Given the description of an element on the screen output the (x, y) to click on. 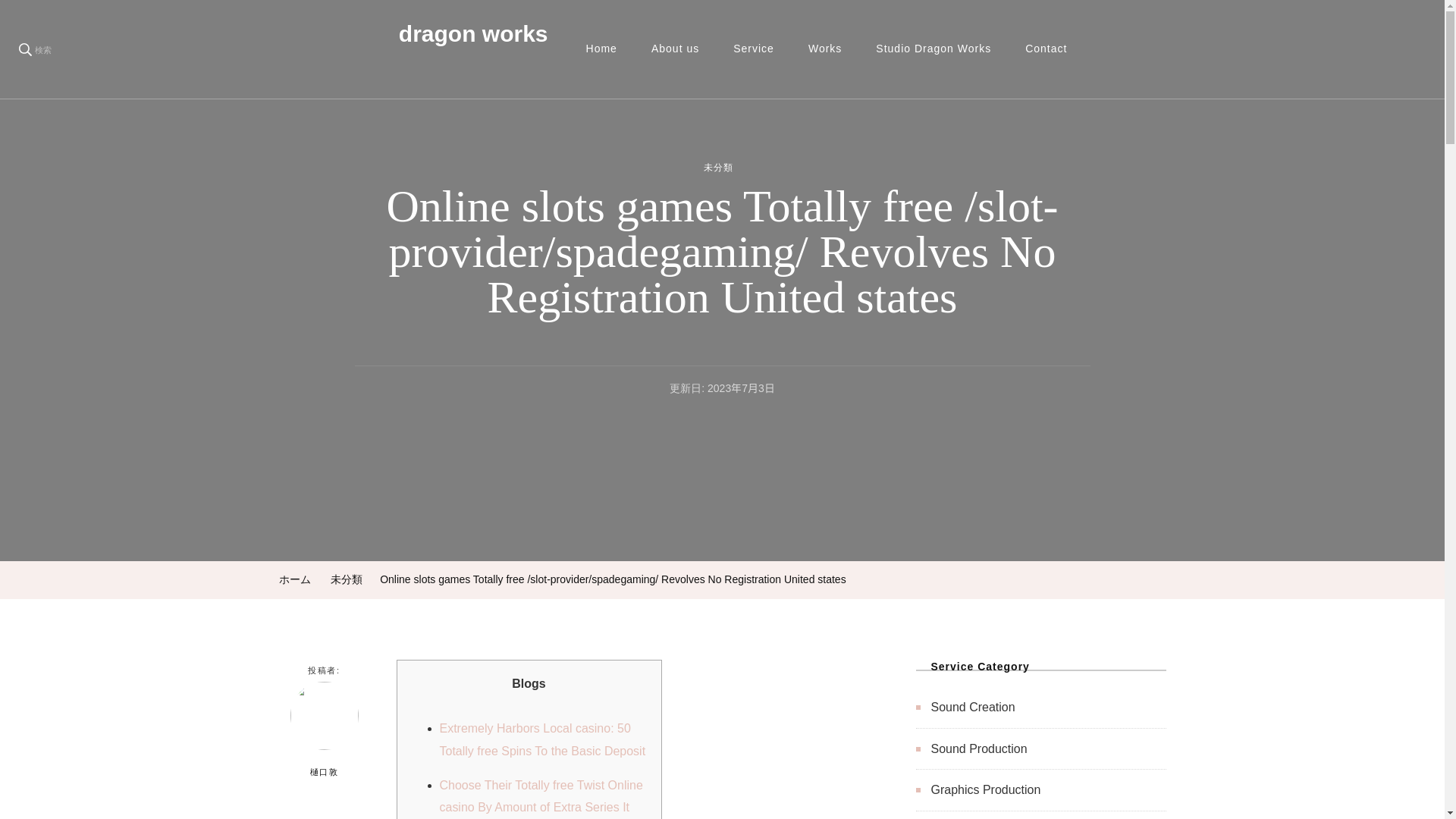
dragon works (473, 33)
Works (825, 49)
Service (753, 49)
Contact (1045, 49)
About us (675, 49)
Studio Dragon Works (933, 49)
Home (600, 49)
